Given the description of an element on the screen output the (x, y) to click on. 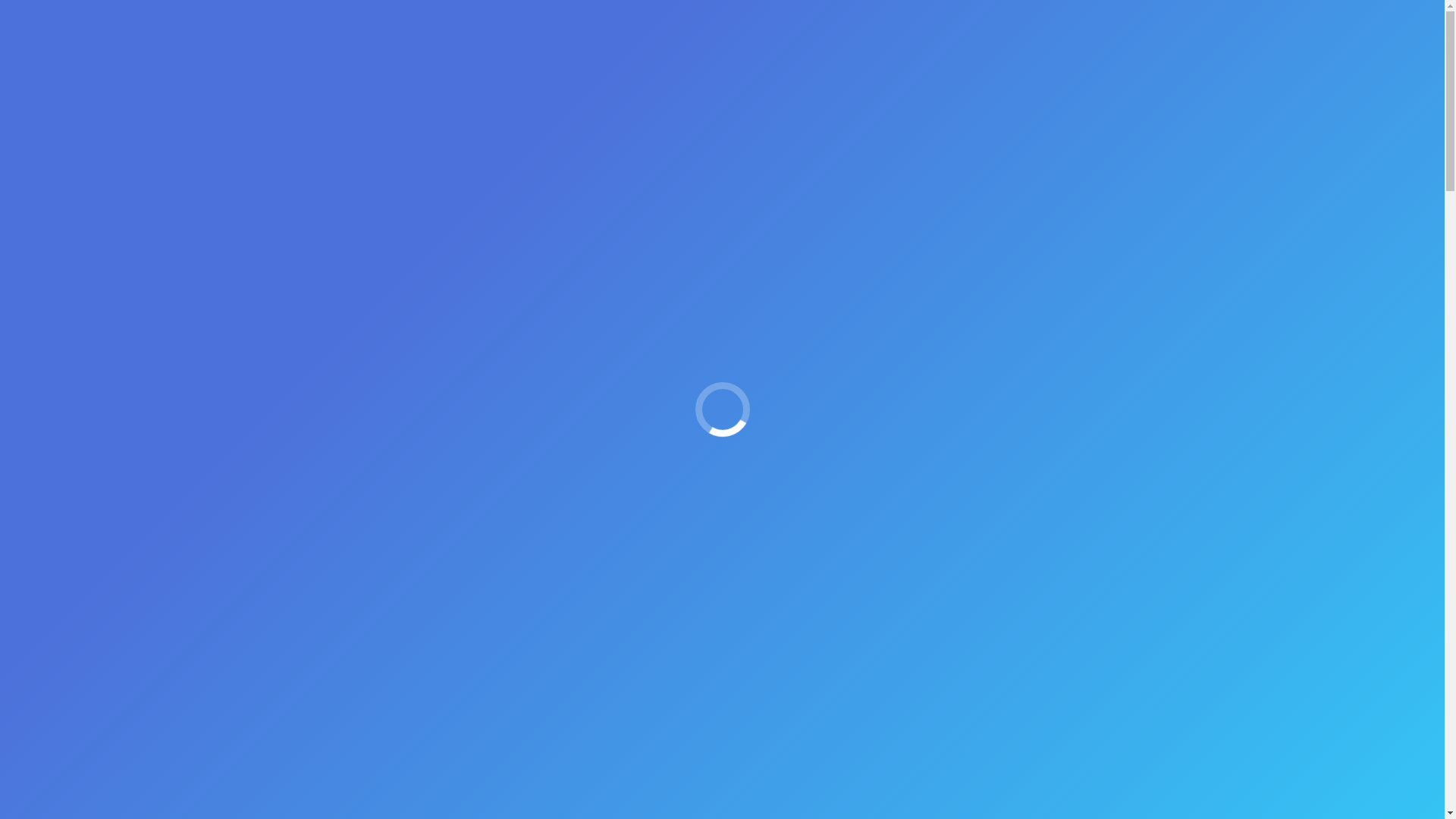
Teams (633, 33)
Contact (1051, 33)
Nieuws (699, 33)
Shop (986, 33)
Interviews (912, 33)
Home (597, 147)
Bestuurszaken (543, 33)
Home (376, 33)
Over ons (446, 33)
Nieuws (644, 147)
